Given the description of an element on the screen output the (x, y) to click on. 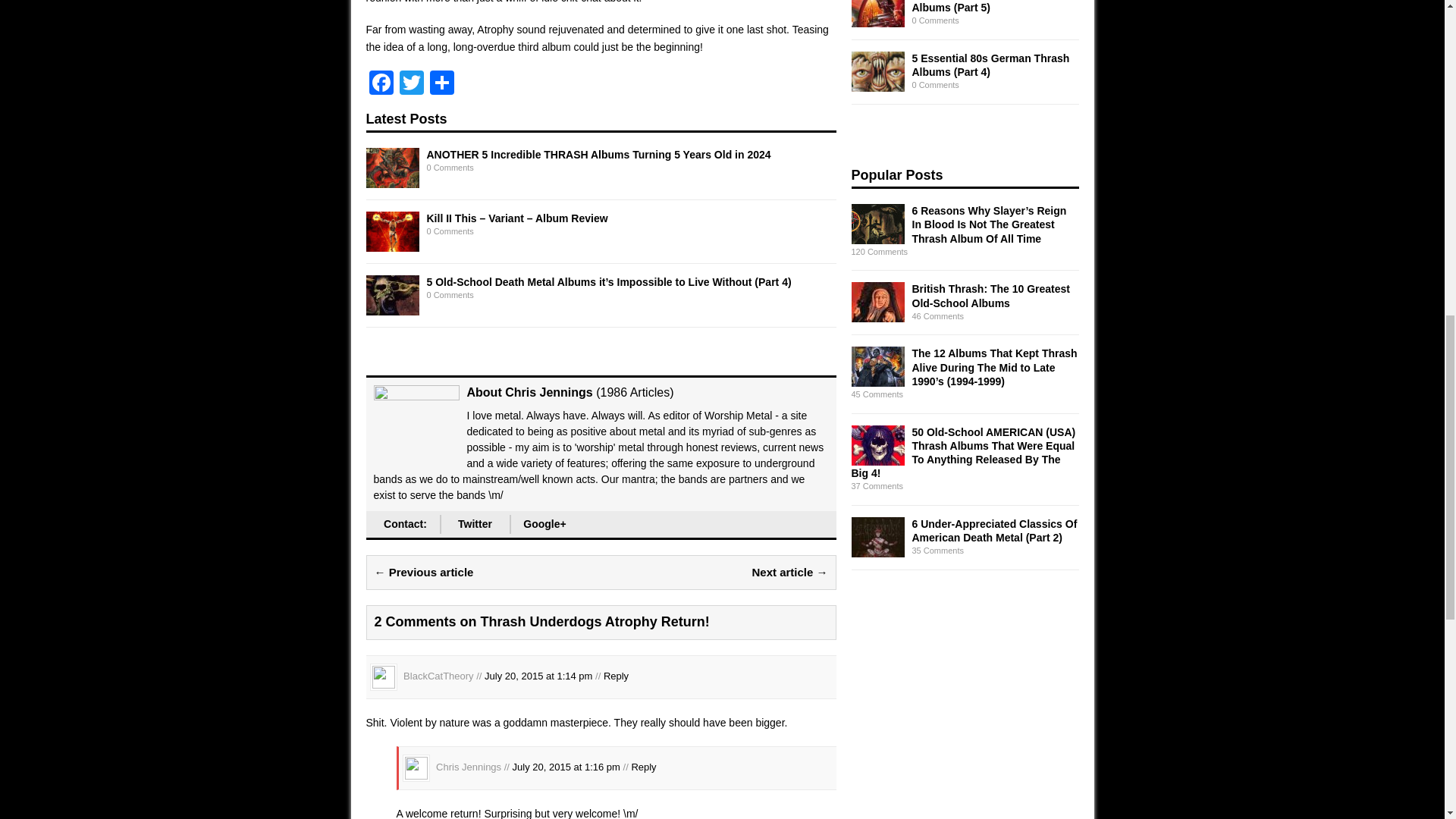
Twitter (474, 524)
Twitter (411, 84)
Twitter (411, 84)
Share (441, 84)
1986 Articles (634, 391)
Facebook (380, 84)
Facebook (380, 84)
